Given the description of an element on the screen output the (x, y) to click on. 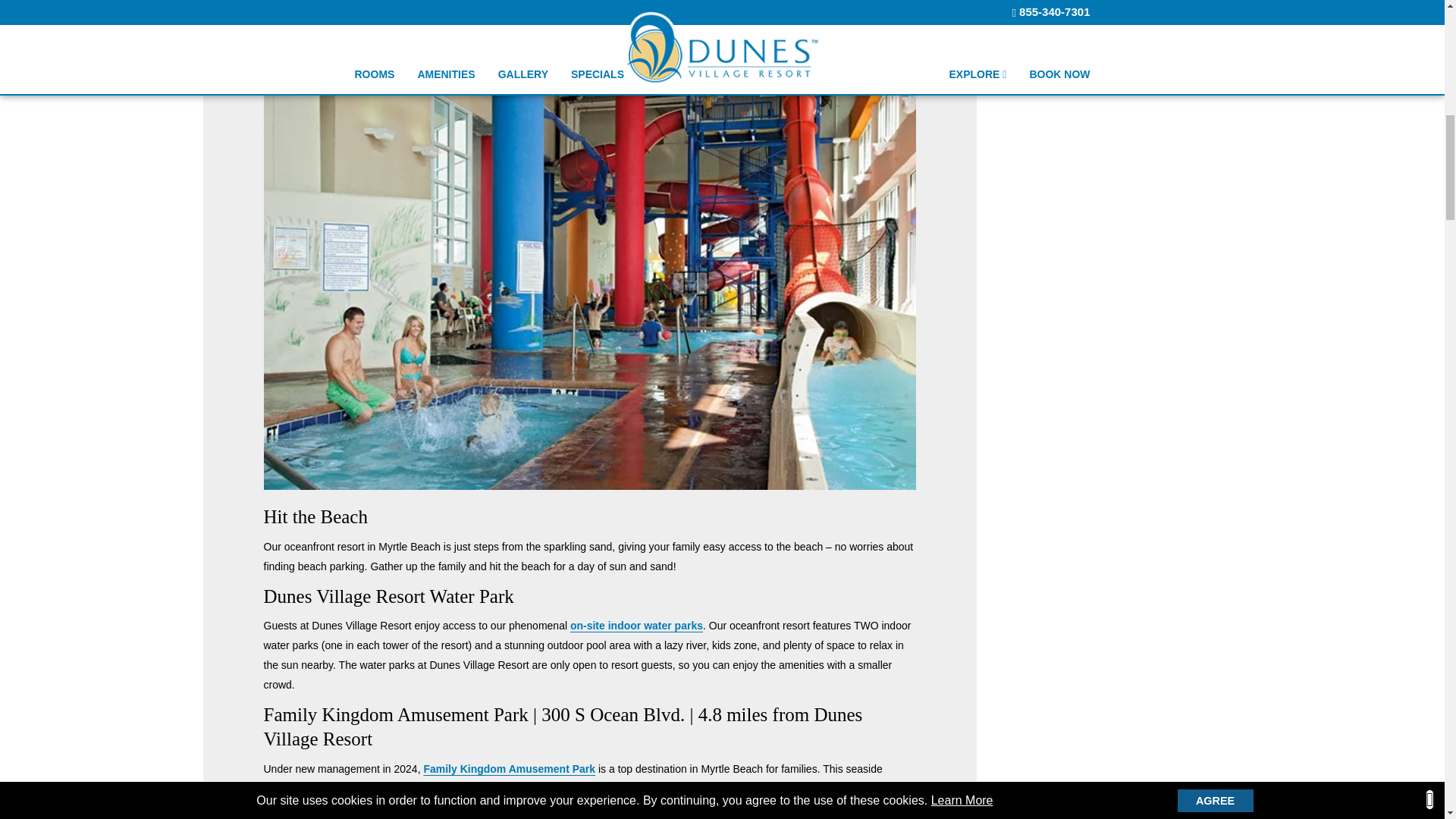
Family Kingdom Amusement Park (509, 768)
on-site indoor water parks (636, 625)
